Given the description of an element on the screen output the (x, y) to click on. 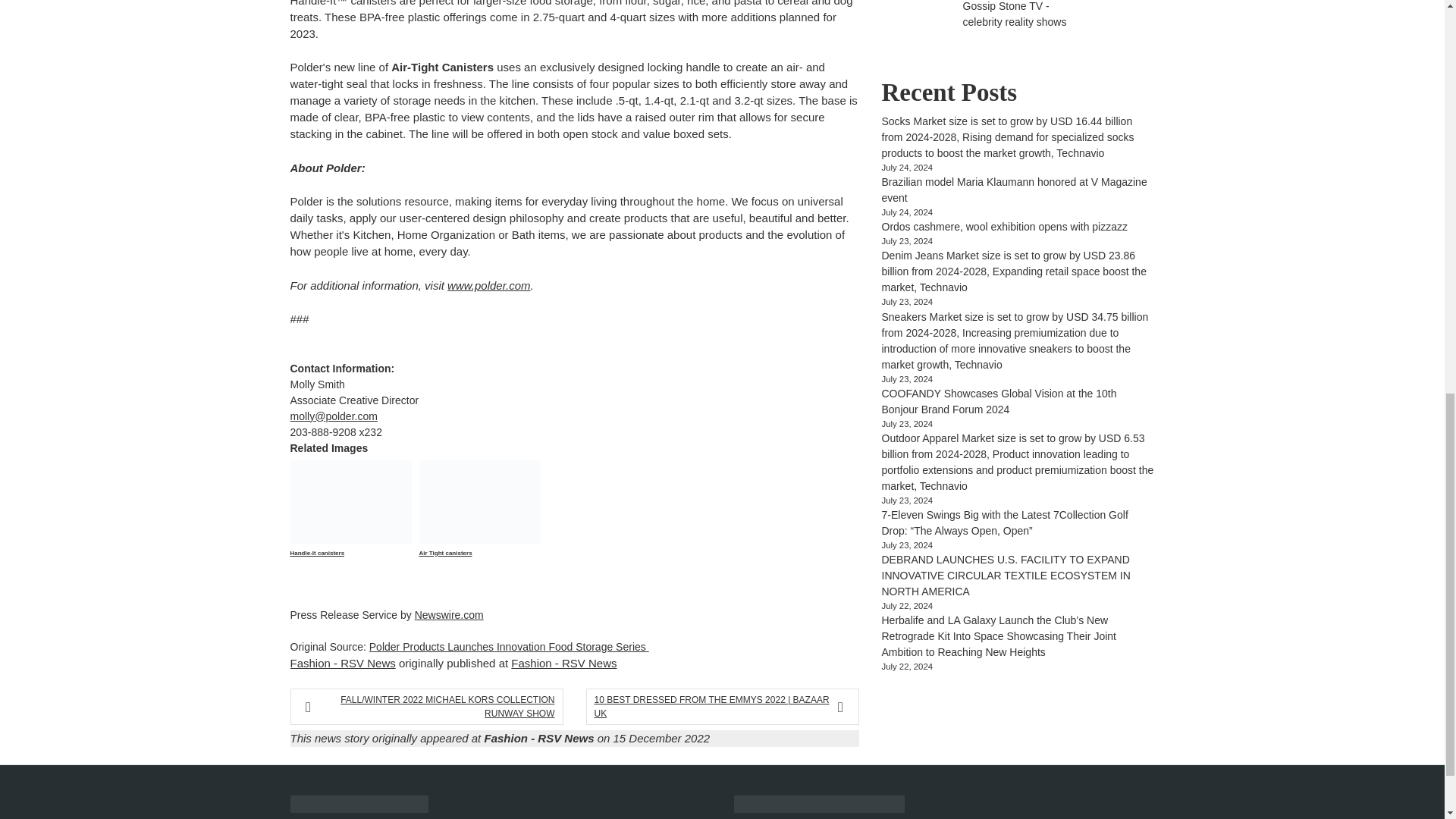
Newswire.com (448, 614)
Fashion - RSV News (341, 662)
www.polder.com (487, 285)
Handle-It canisters (349, 525)
Fashion - RSV News (563, 662)
Fashion - RSV News on 15 December 2022 (596, 738)
Polder Products Launches Innovation Food Storage Series (509, 646)
Air Tight canisters (479, 525)
